Given the description of an element on the screen output the (x, y) to click on. 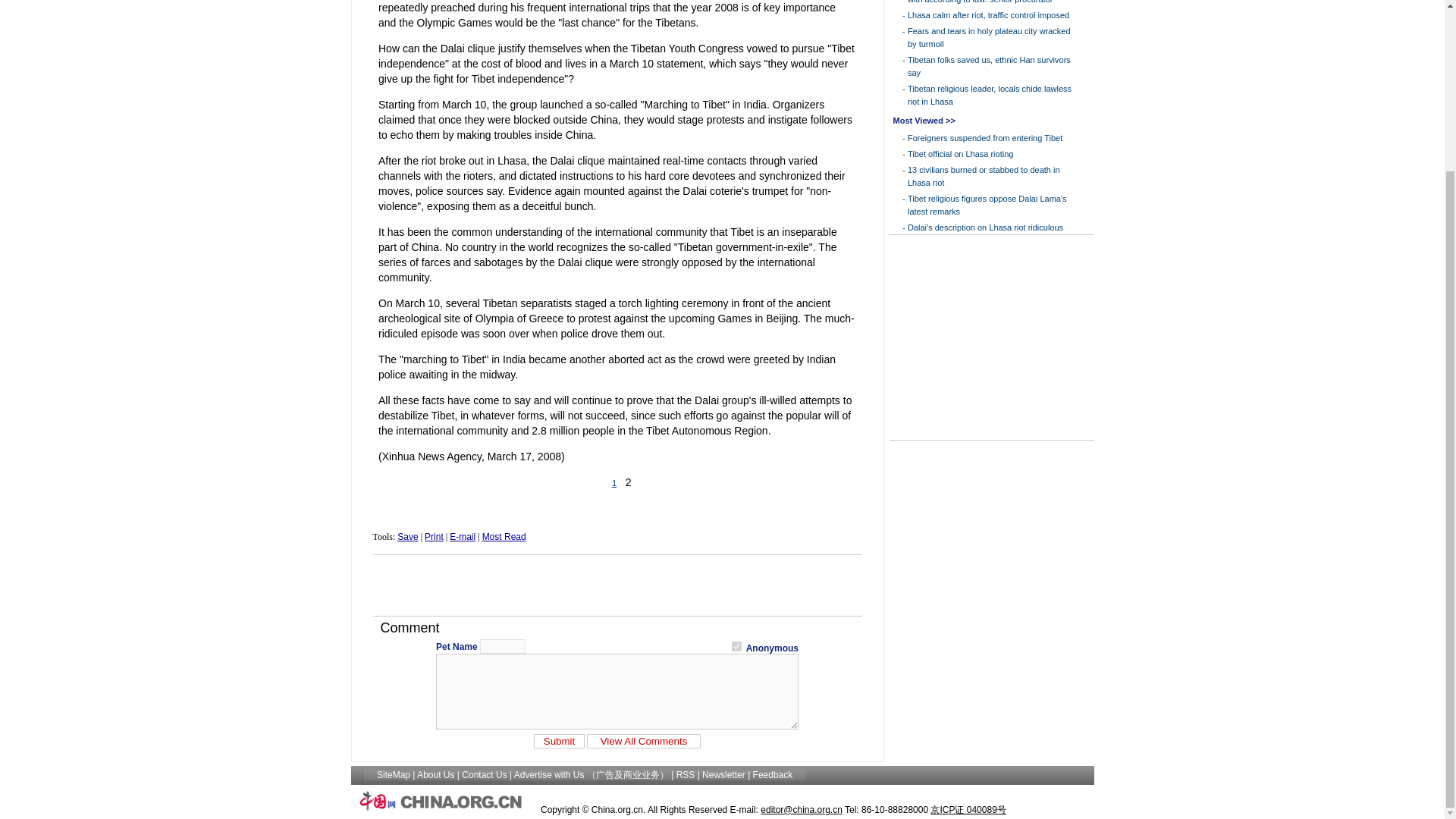
Lhasa calm after riot, traffic control imposed (987, 14)
Foreigners suspended from entering Tibet (984, 137)
1 (736, 646)
View All Comments (643, 740)
E-mail (462, 536)
Save (407, 536)
Submit (559, 740)
Most Read (503, 536)
Fears and tears in holy plateau city wracked by turmoil (988, 37)
Tibetan religious leader, locals chide lawless riot in Lhasa (989, 95)
Tibetan folks saved us, ethnic Han survivors say (988, 65)
Print (434, 536)
Tibet official on Lhasa rioting (960, 153)
